Given the description of an element on the screen output the (x, y) to click on. 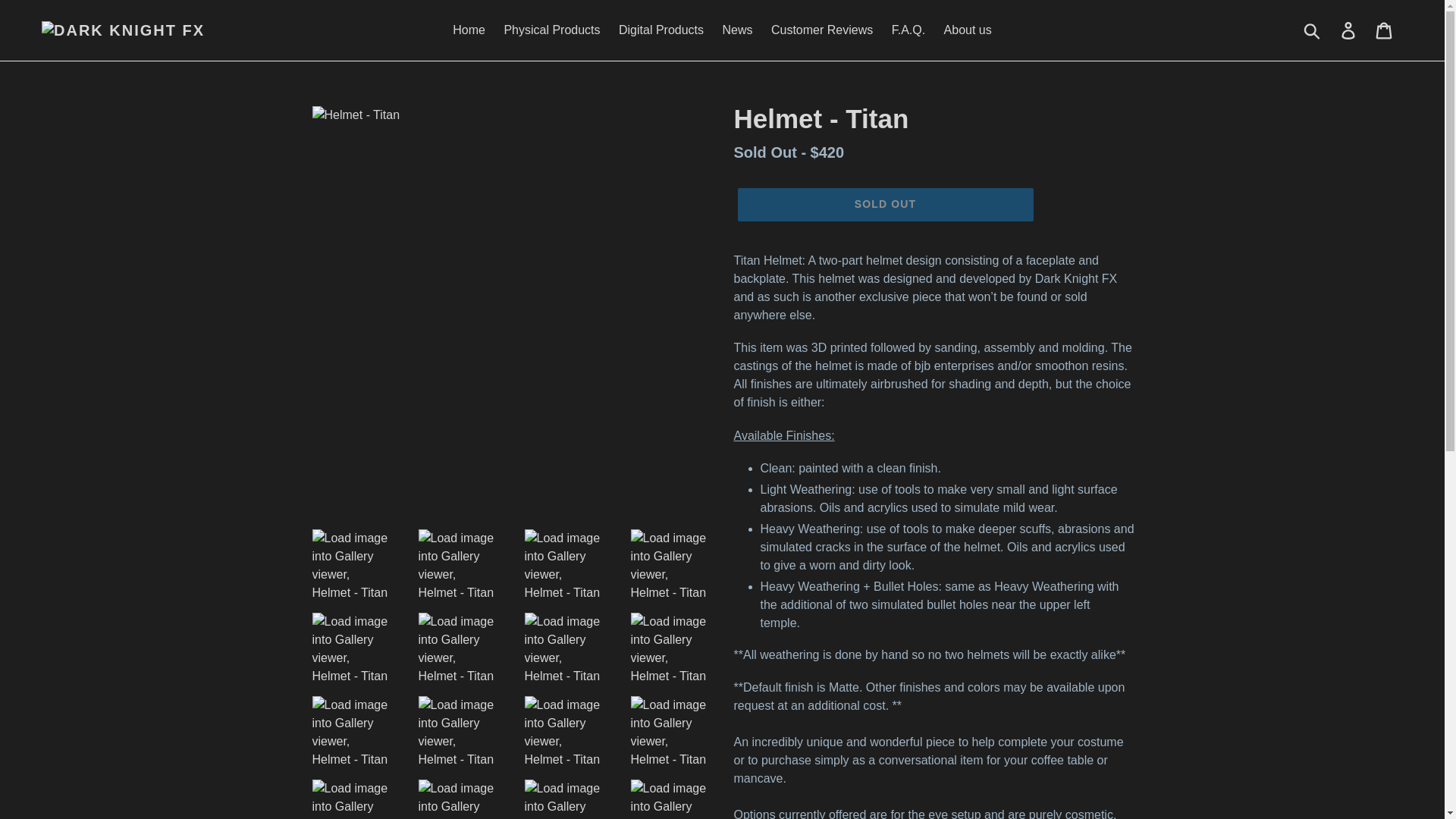
Cart (1385, 29)
Digital Products (661, 29)
News (737, 29)
About us (967, 29)
Log in (1349, 29)
Home (469, 29)
Customer Reviews (821, 29)
F.A.Q. (908, 29)
Physical Products (551, 29)
Submit (1313, 29)
